Given the description of an element on the screen output the (x, y) to click on. 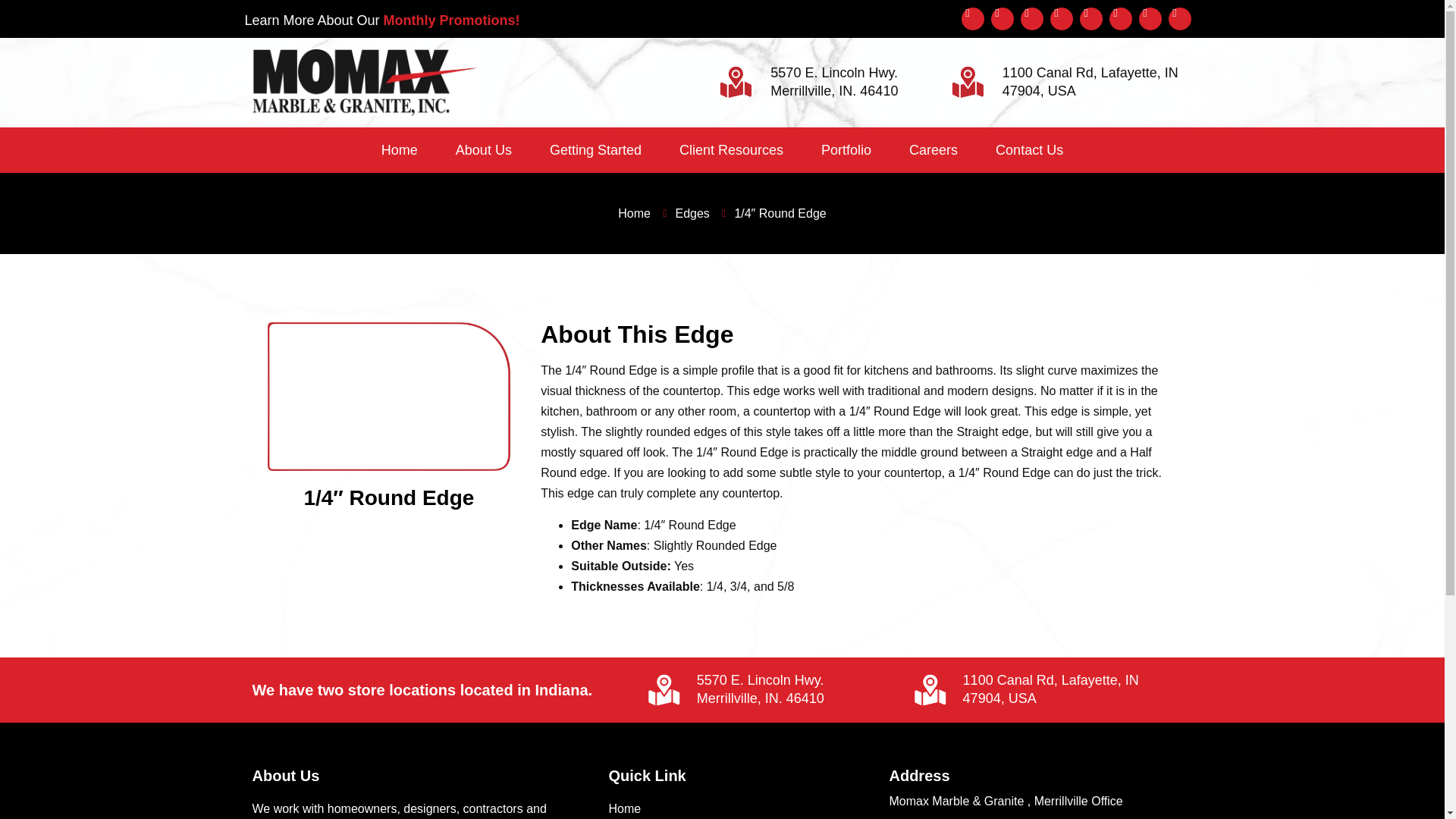
Monthly Promotions (449, 20)
Careers (932, 149)
Client Resources (731, 149)
Home (399, 149)
Portfolio (845, 149)
About Us (483, 149)
Contact Us (1028, 149)
Getting Started (596, 149)
